Given the description of an element on the screen output the (x, y) to click on. 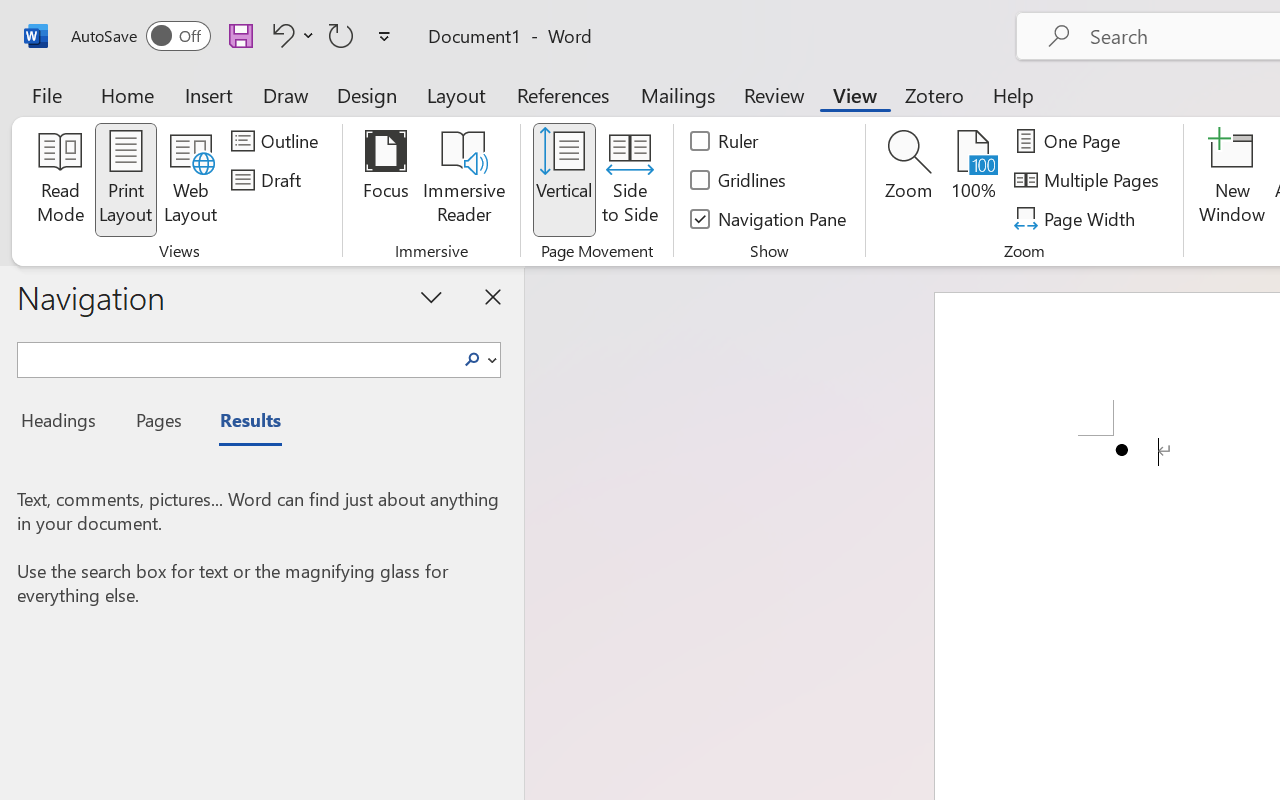
Draft (269, 179)
Zoom... (908, 179)
Immersive Reader (464, 179)
Navigation Pane (769, 218)
Gridlines (739, 179)
Ruler (725, 141)
Undo Bullet Default (290, 35)
Pages (156, 423)
